Given the description of an element on the screen output the (x, y) to click on. 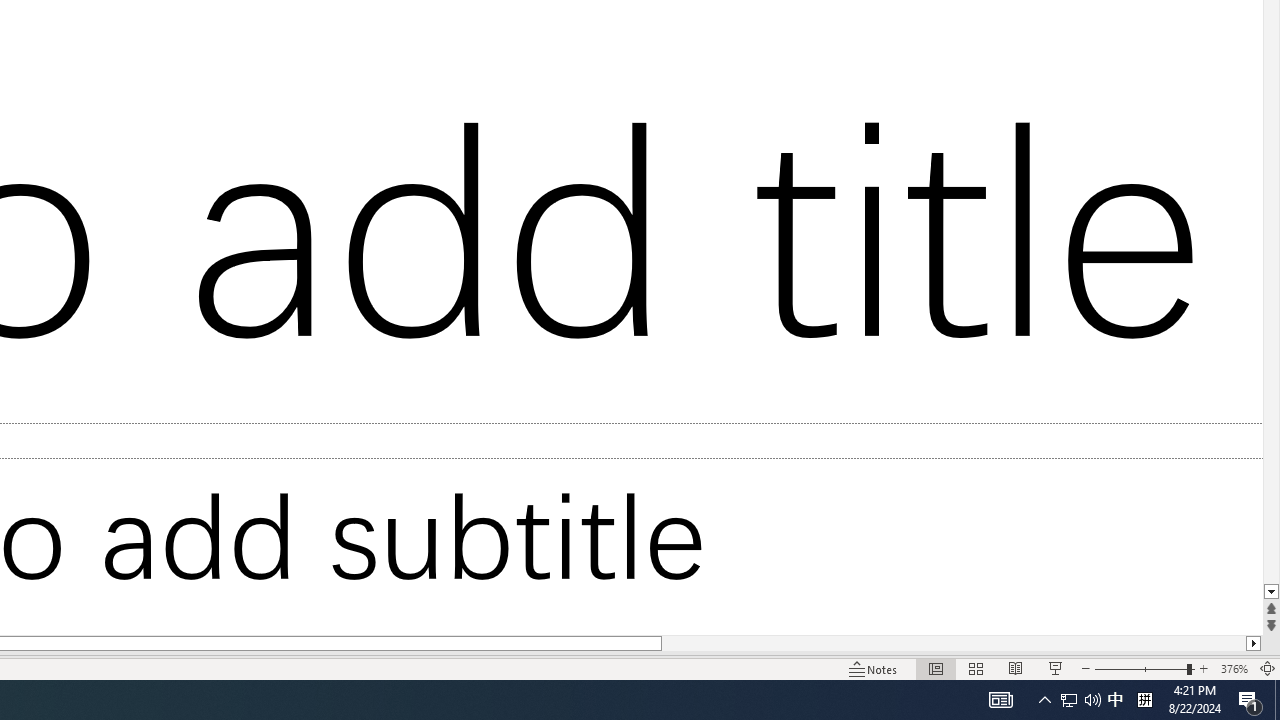
Quote (1130, 25)
Zoom 95% (1249, 640)
Show Preview (1067, 524)
Line down (966, 613)
Options... (1203, 590)
